Given the description of an element on the screen output the (x, y) to click on. 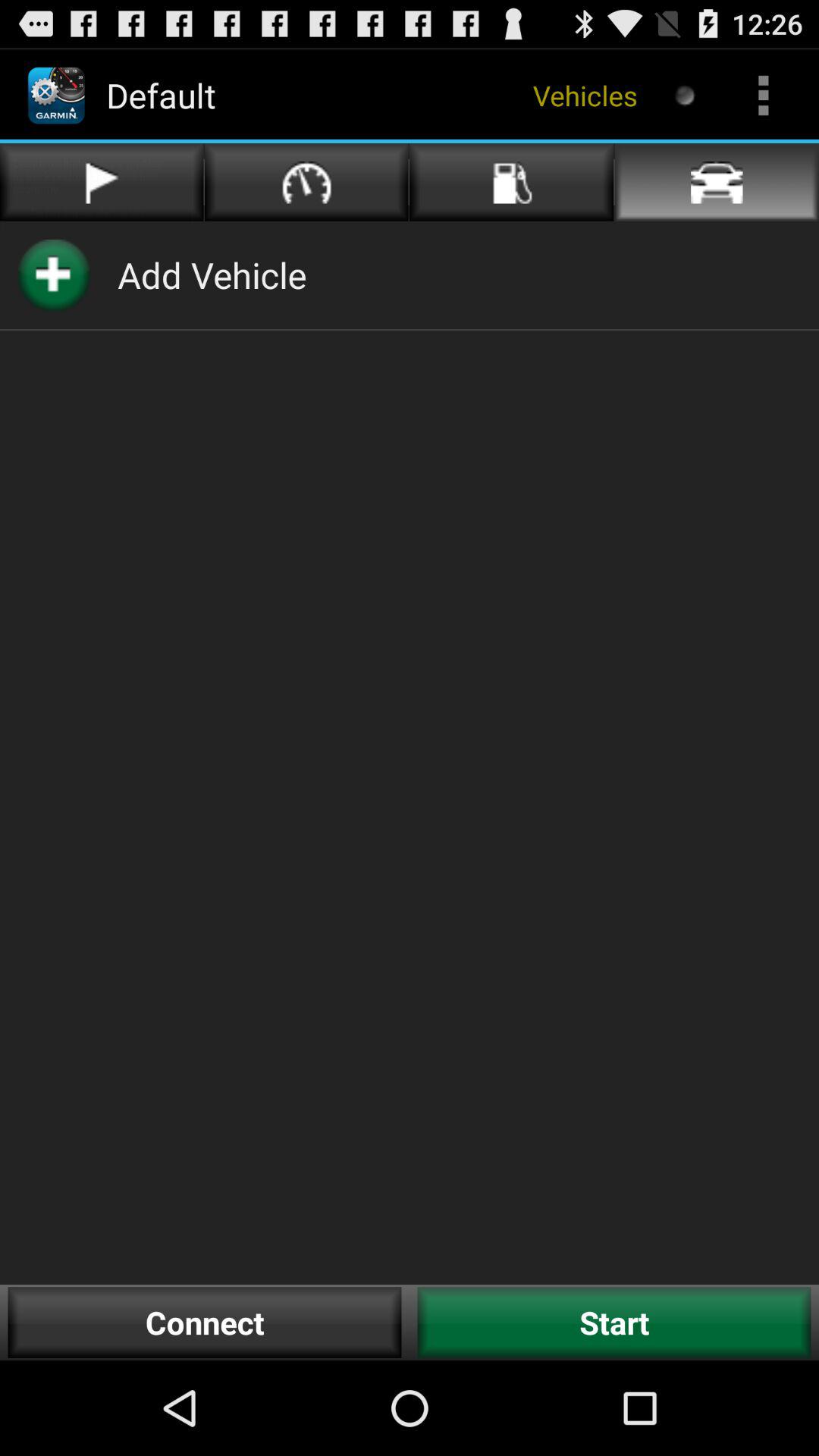
open the item at the bottom left corner (204, 1322)
